Given the description of an element on the screen output the (x, y) to click on. 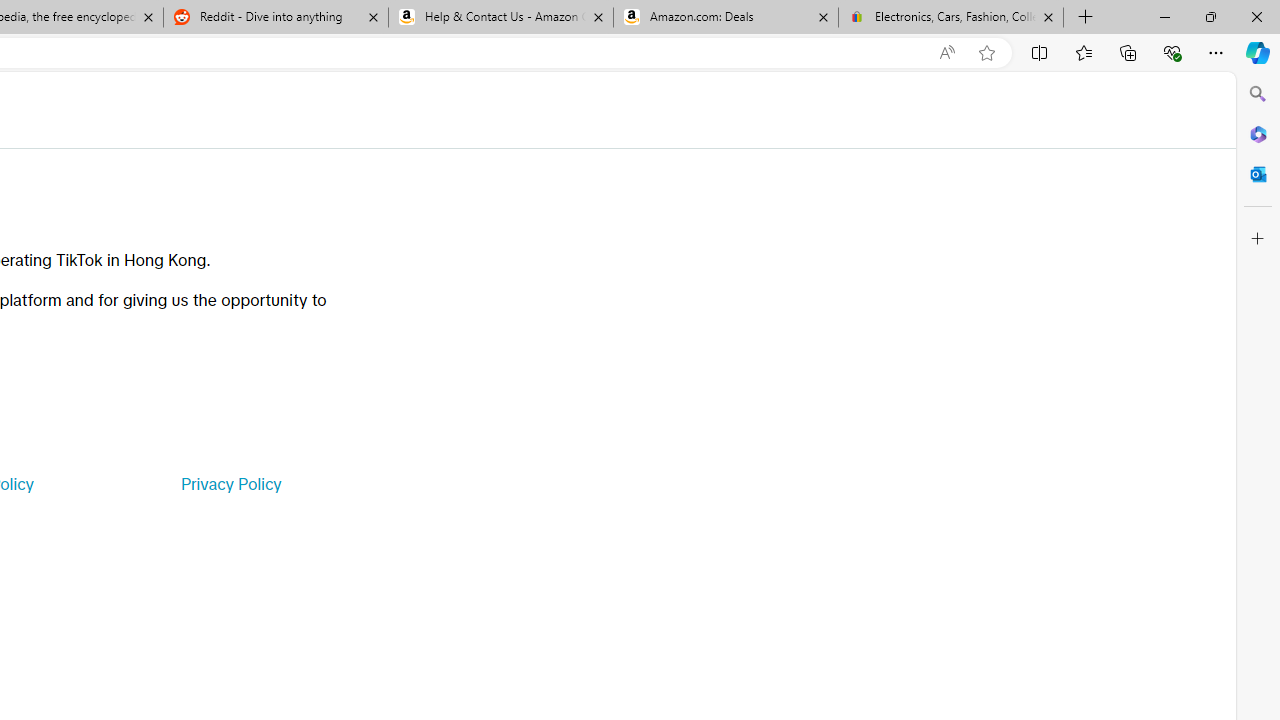
Amazon.com: Deals (726, 17)
Electronics, Cars, Fashion, Collectibles & More | eBay (950, 17)
Privacy Policy (230, 484)
Reddit - Dive into anything (275, 17)
